Given the description of an element on the screen output the (x, y) to click on. 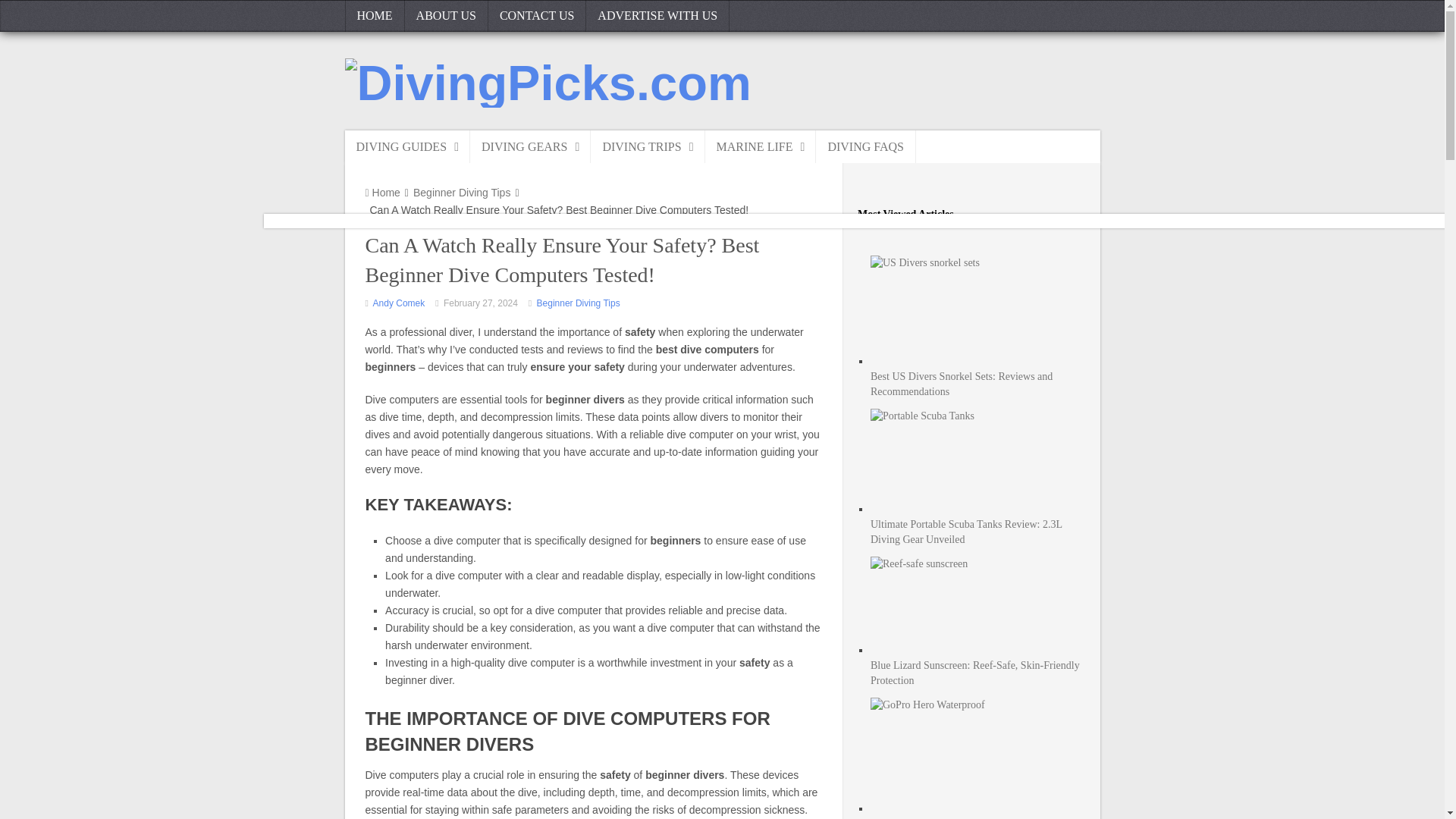
DIVING TRIPS (647, 146)
CONTACT US (536, 15)
Home (382, 192)
ADVERTISE WITH US (657, 15)
Posts by Andy Comek (398, 303)
DIVING GEARS (530, 146)
Andy Comek (398, 303)
HOME (373, 15)
Beginner Diving Tips (462, 192)
Beginner Diving Tips (578, 303)
